Given the description of an element on the screen output the (x, y) to click on. 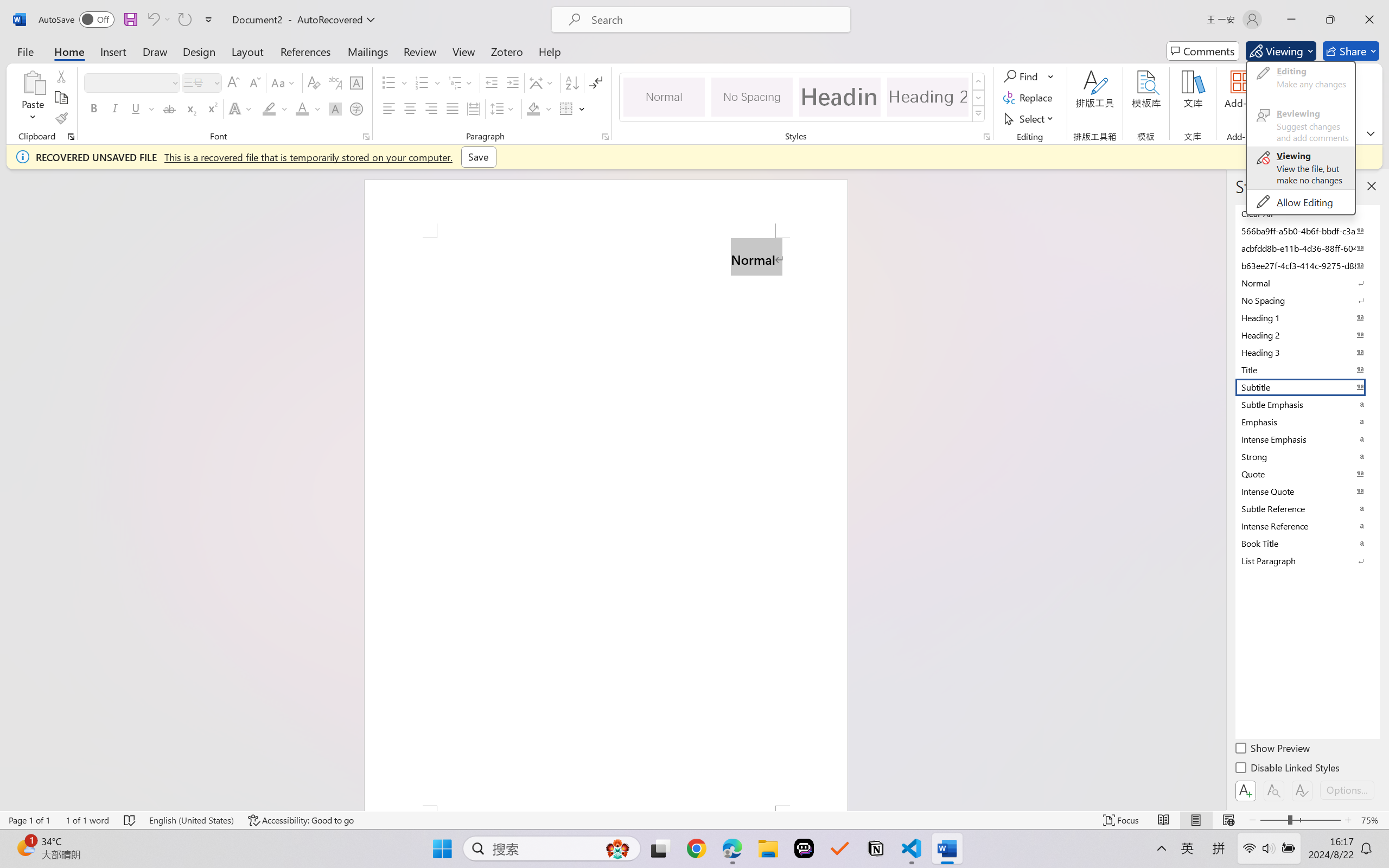
Page Number Page 1 of 1 (29, 819)
List Paragraph (1306, 560)
b63ee27f-4cf3-414c-9275-d88e3f90795e (1306, 265)
Styles... (986, 136)
Quote (1306, 473)
Font Color RGB(255, 0, 0) (302, 108)
Zoom 75% (1372, 819)
